Given the description of an element on the screen output the (x, y) to click on. 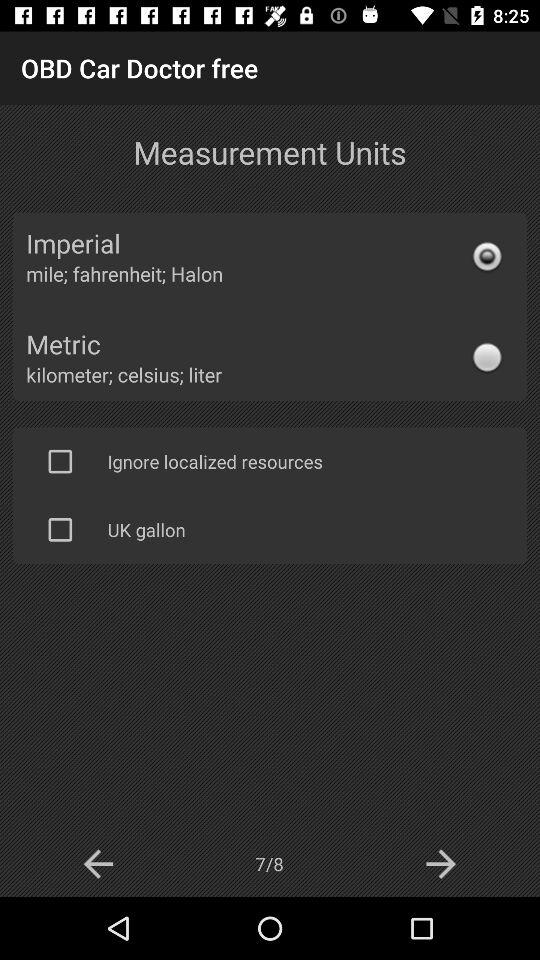
toggle for on and off (60, 461)
